Given the description of an element on the screen output the (x, y) to click on. 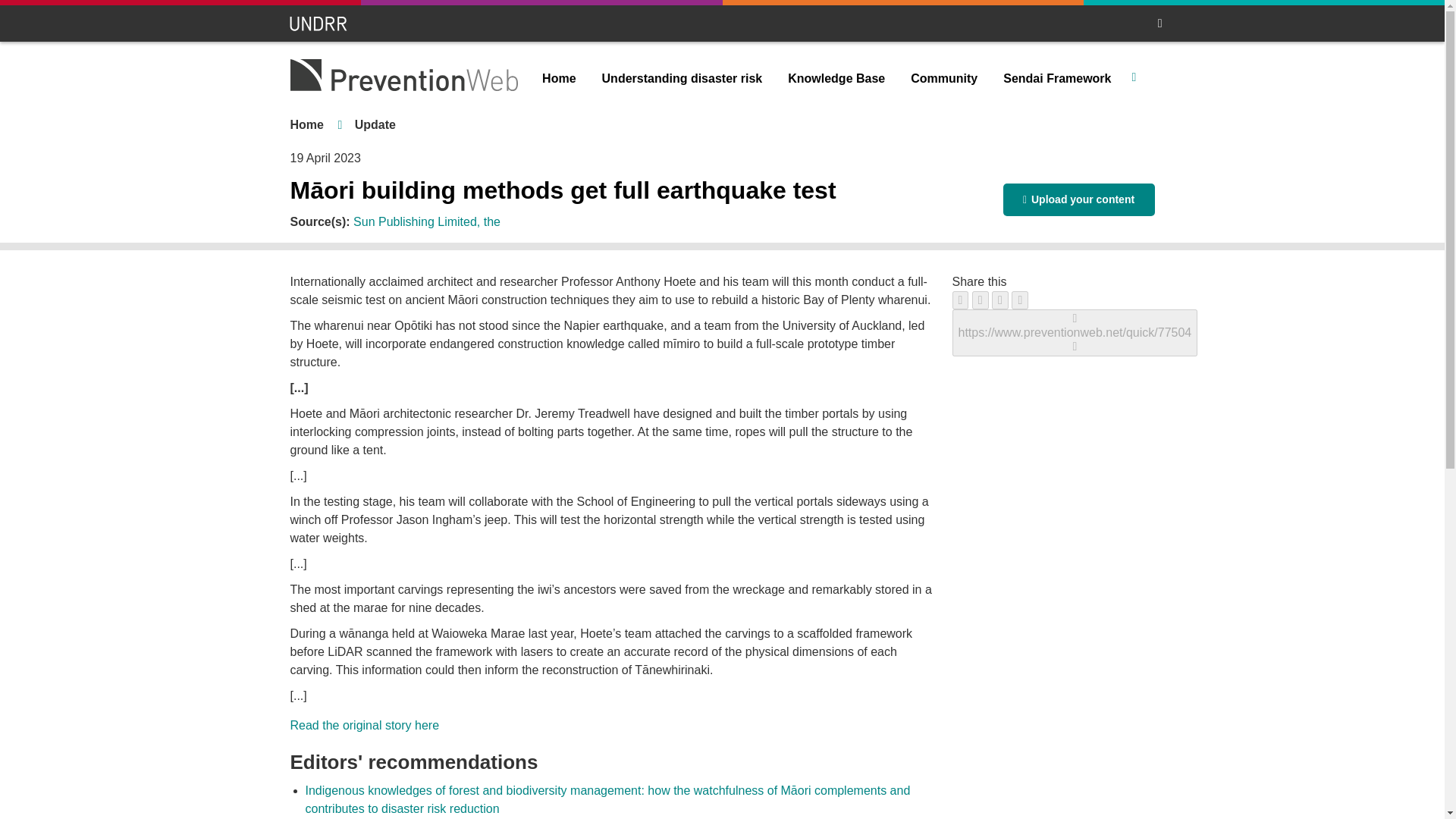
PreventionWeb Logo (402, 74)
Home (306, 124)
Sendai Framework (1057, 78)
Read the original story here (364, 725)
Knowledge Base (836, 78)
Share on Facebook (960, 300)
Understanding disaster risk (682, 78)
Home (558, 78)
Upload your content (1078, 199)
